Given the description of an element on the screen output the (x, y) to click on. 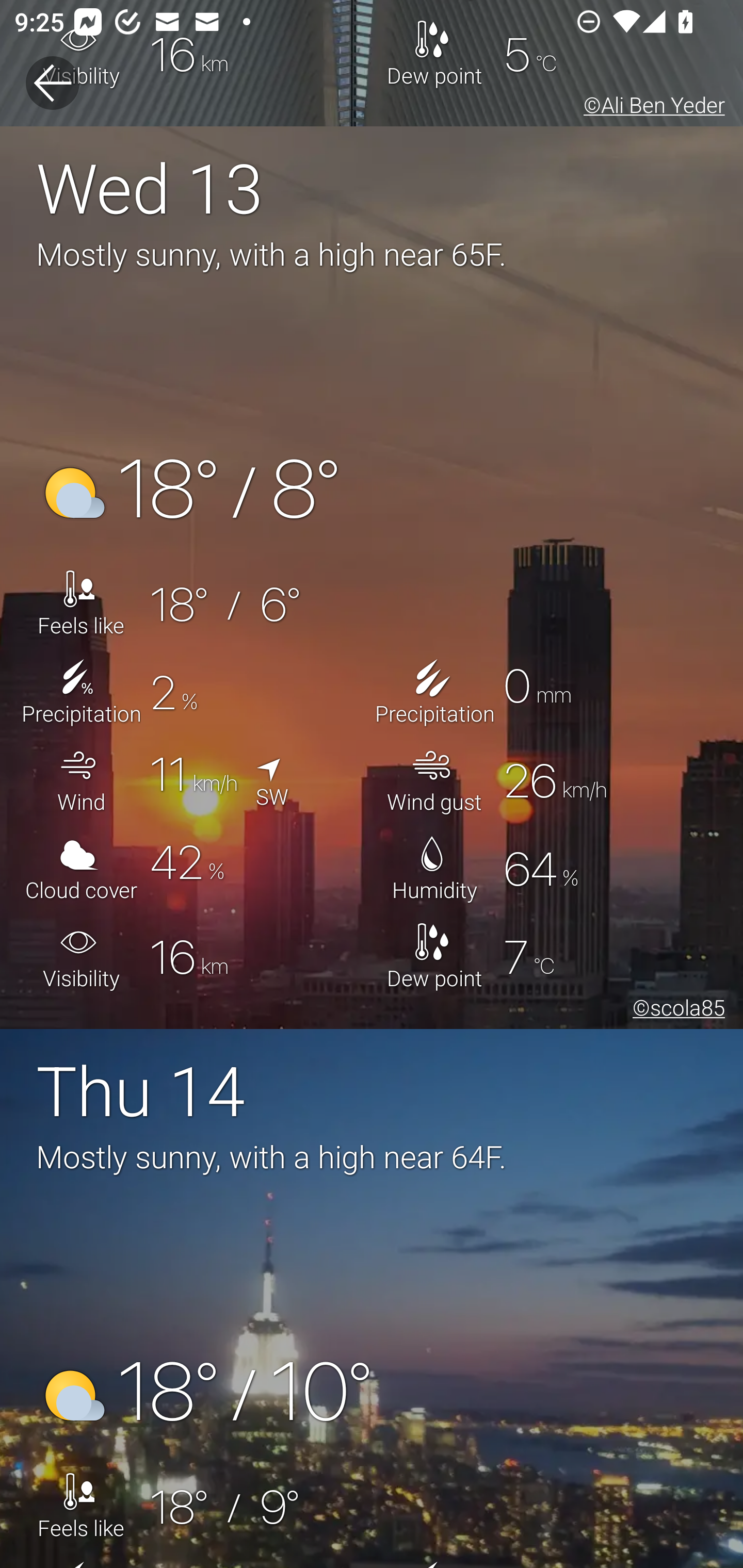
©Ali Ben Yeder (650, 108)
©scola85 (675, 1010)
